Given the description of an element on the screen output the (x, y) to click on. 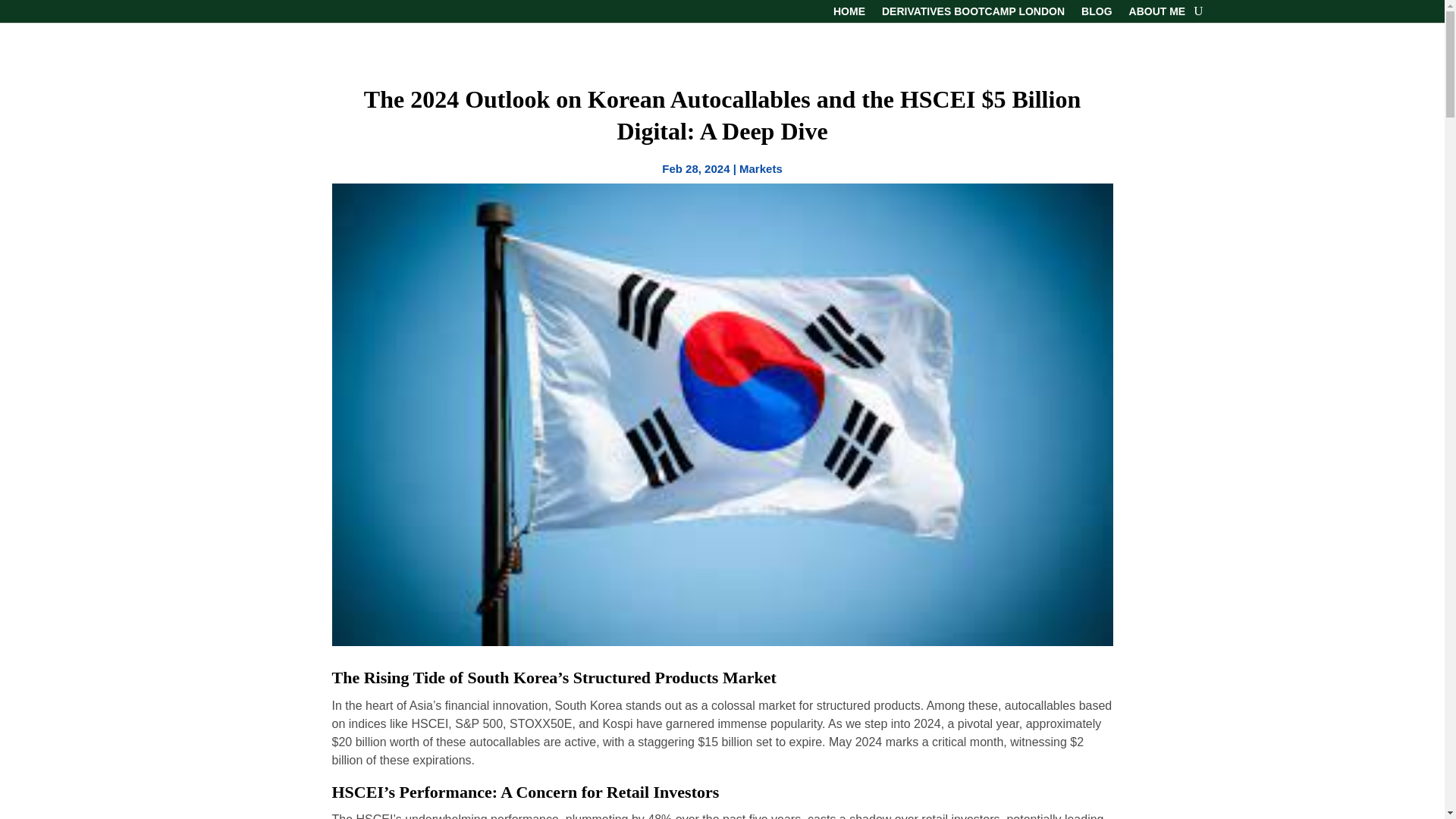
HOME (848, 13)
BLOG (1096, 13)
ABOUT ME (1157, 13)
Markets (761, 168)
DERIVATIVES BOOTCAMP LONDON (973, 13)
